Given the description of an element on the screen output the (x, y) to click on. 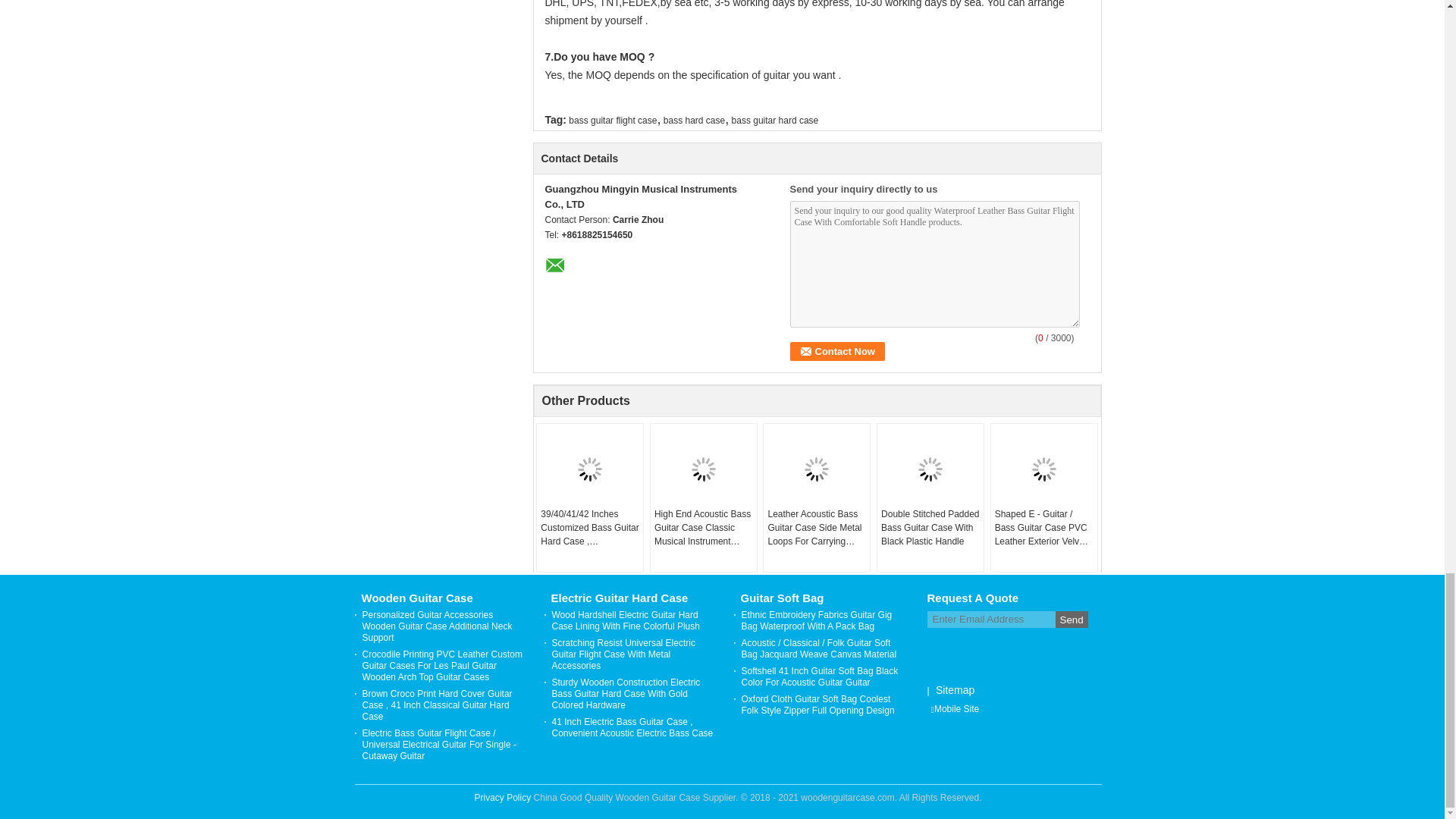
Contact Now (837, 351)
